Given the description of an element on the screen output the (x, y) to click on. 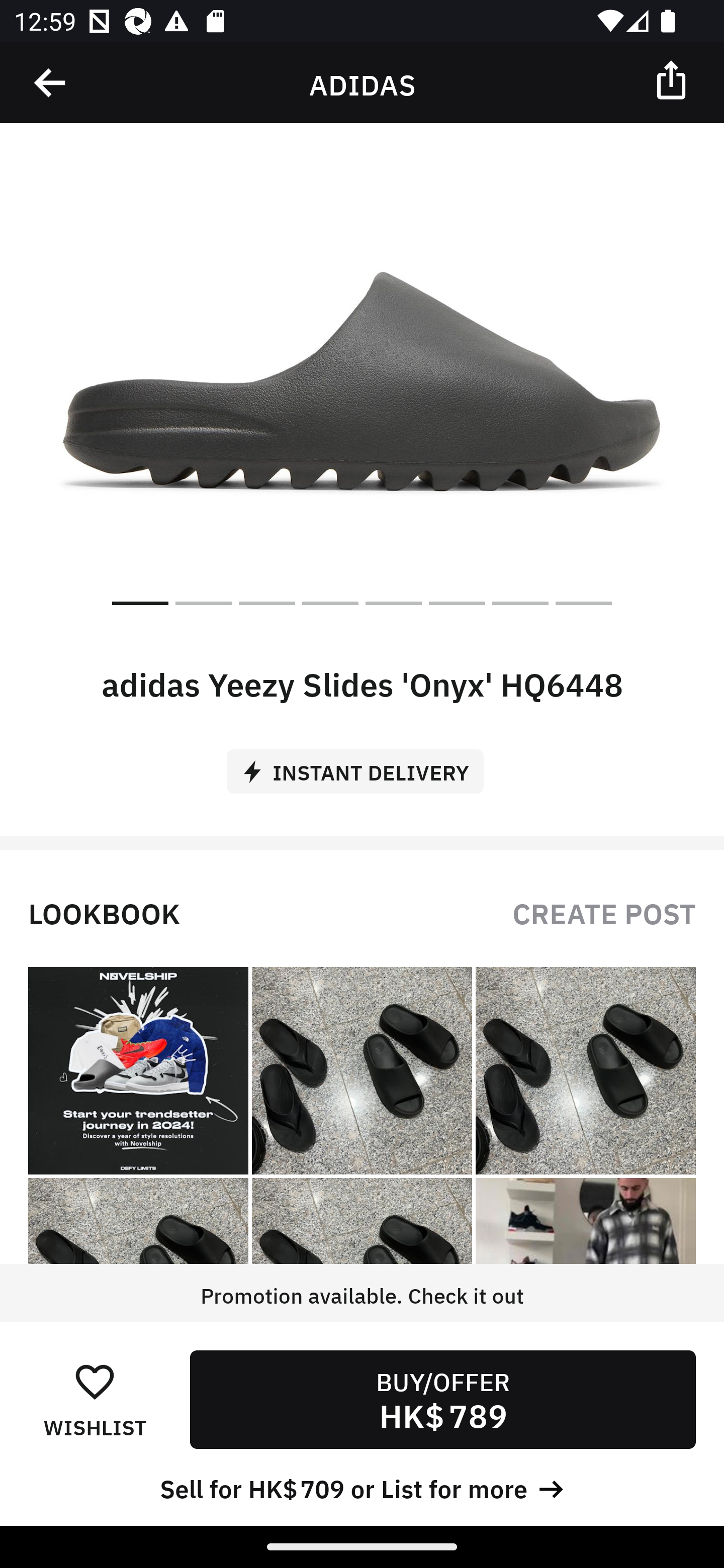
 (50, 83)
 (672, 79)
 INSTANT DELIVERY (362, 764)
CREATE POST (603, 911)
BUY/OFFER HK$ 789 (442, 1399)
󰋕 (94, 1380)
Sell for HK$ 709 or List for more (361, 1486)
